Given the description of an element on the screen output the (x, y) to click on. 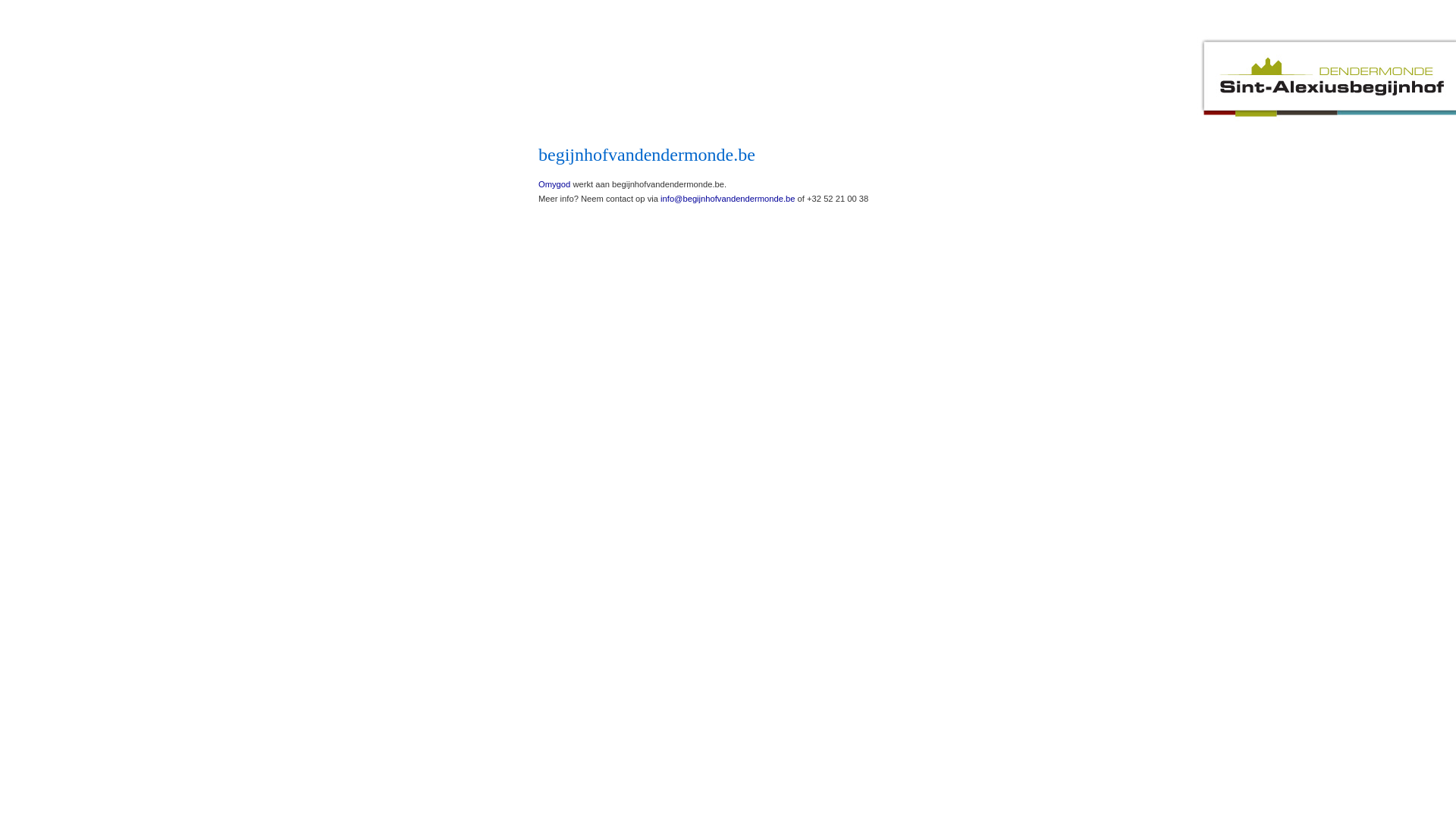
info@begijnhofvandendermonde.be Element type: text (727, 198)
Omygod Element type: text (554, 183)
